Given the description of an element on the screen output the (x, y) to click on. 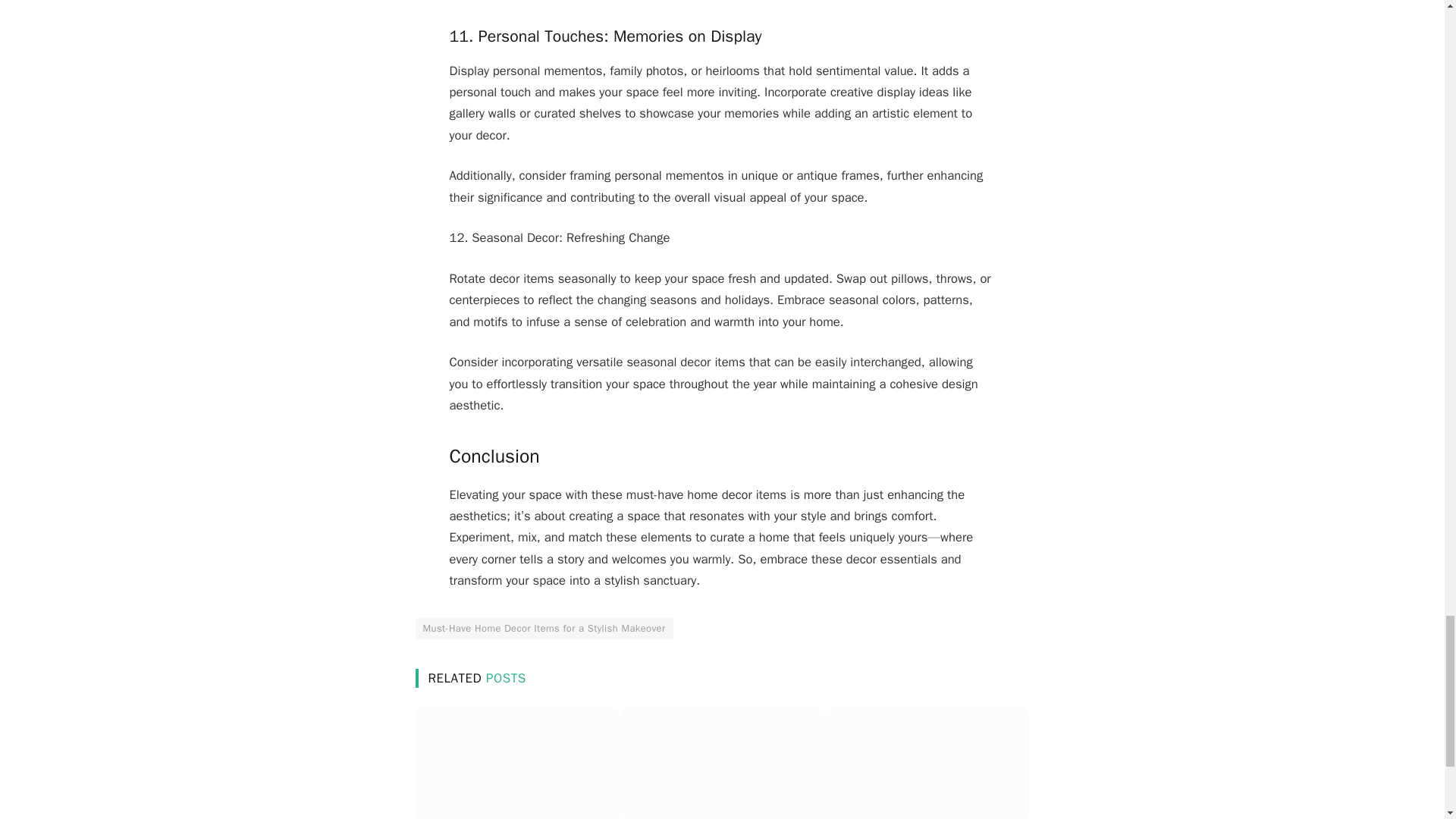
5 Scriptures for Finding Hope in Times of Darkness (517, 763)
